Given the description of an element on the screen output the (x, y) to click on. 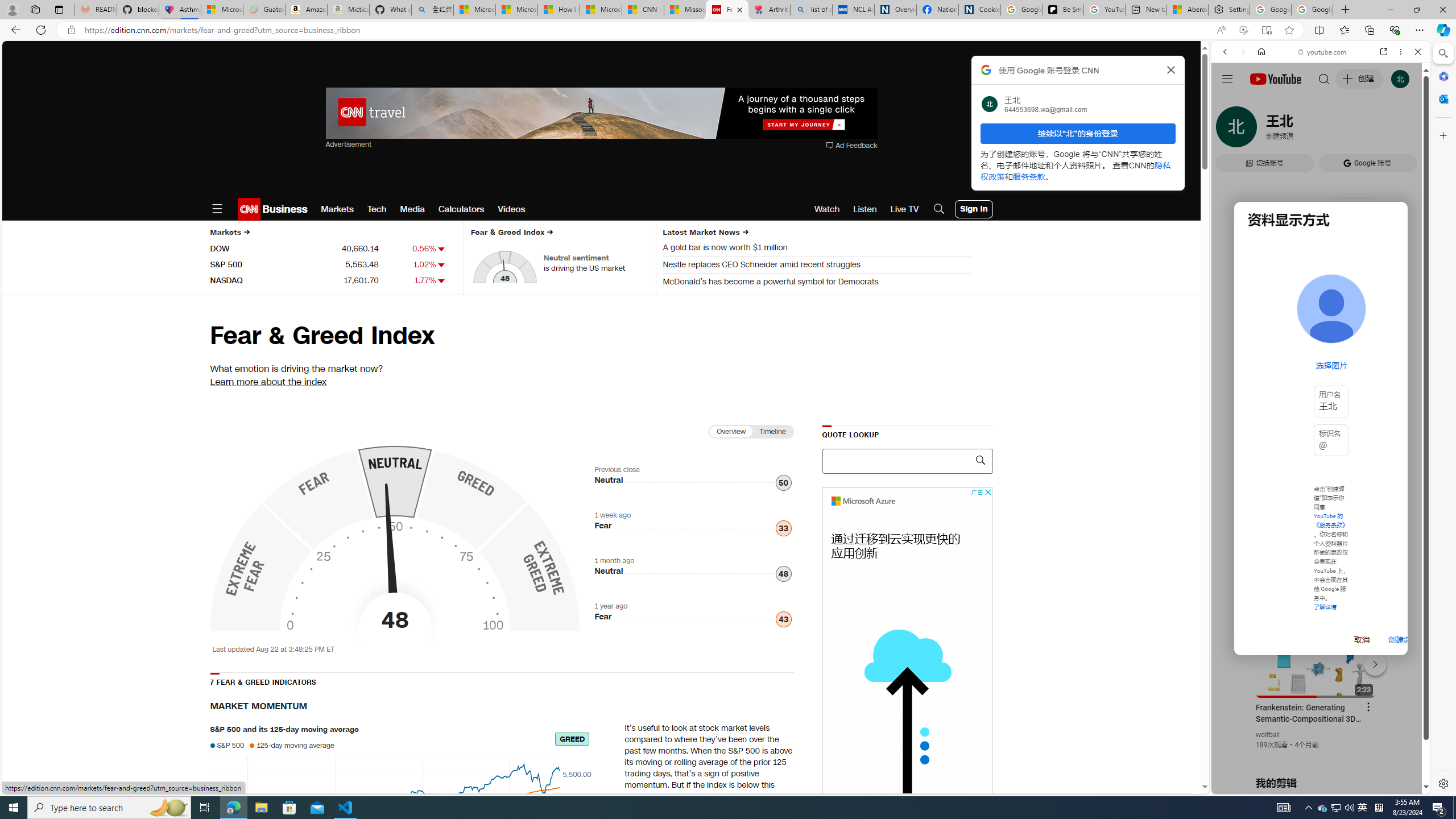
NCL Adult Asthma Inhaler Choice Guideline (853, 9)
Class: dict_pnIcon rms_img (1312, 784)
Class: right-arrow (745, 232)
US[ju] (1249, 785)
Be Smart | creating Science videos | Patreon (1062, 9)
